Given the description of an element on the screen output the (x, y) to click on. 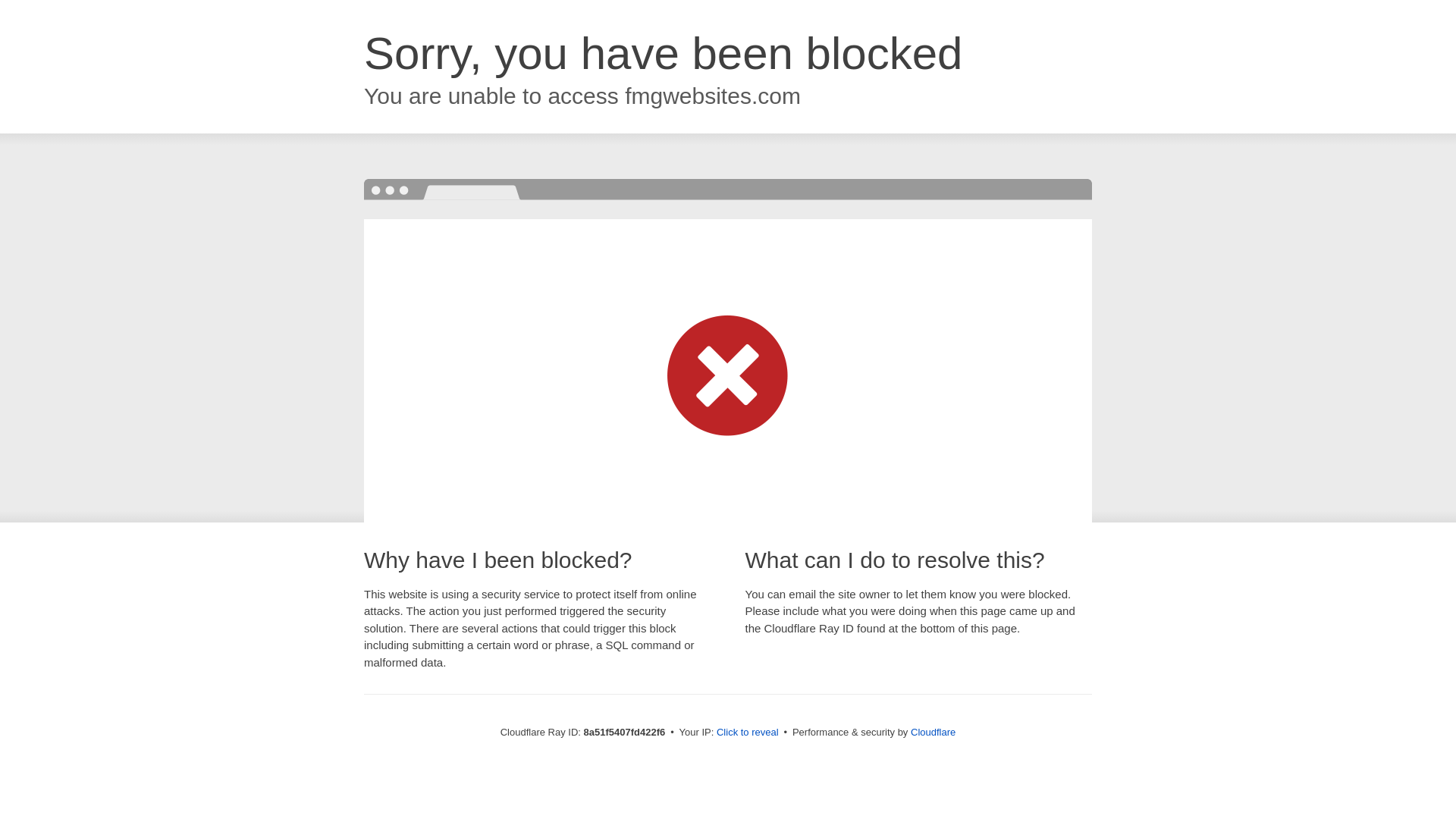
Click to reveal (747, 732)
Cloudflare (933, 731)
